Given the description of an element on the screen output the (x, y) to click on. 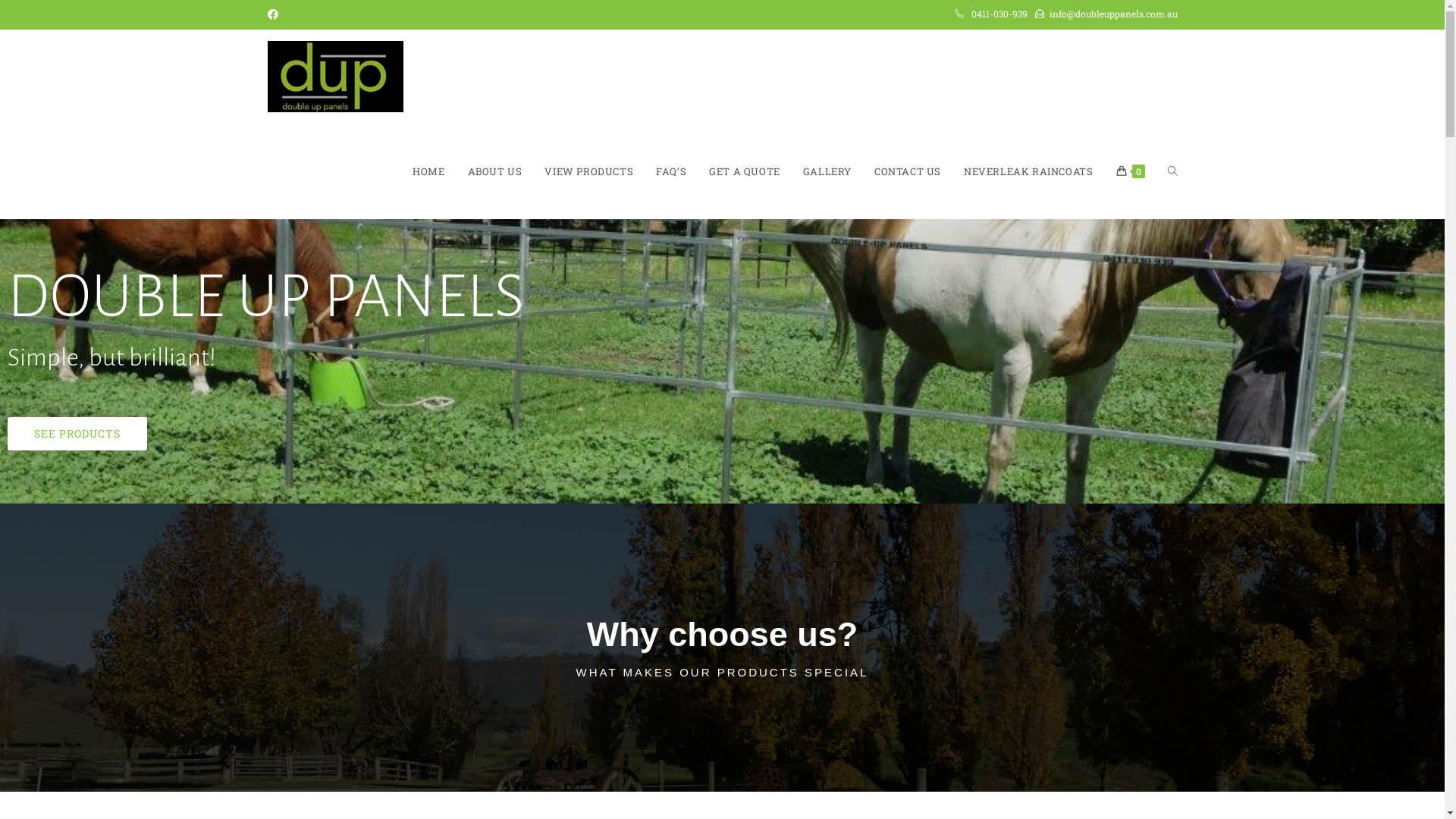
VIEW PRODUCTS Element type: text (588, 171)
ABOUT US Element type: text (494, 171)
NEVERLEAK RAINCOATS Element type: text (1028, 171)
HOME Element type: text (428, 171)
0 Element type: text (1129, 171)
SEE PRODUCTS Element type: text (77, 433)
CONTACT US Element type: text (907, 171)
GET A QUOTE Element type: text (744, 171)
GALLERY Element type: text (826, 171)
